Given the description of an element on the screen output the (x, y) to click on. 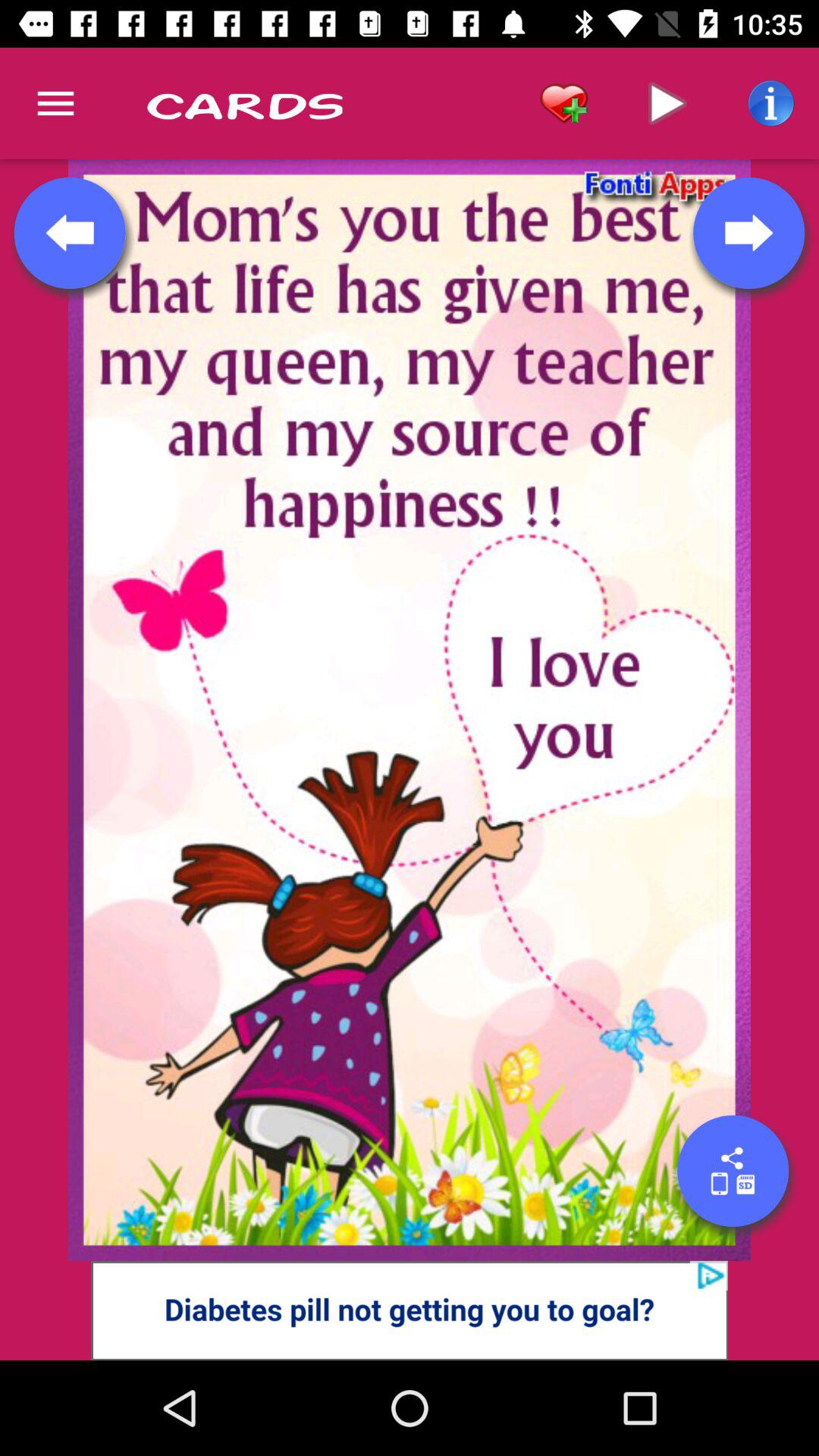
next option (749, 233)
